Given the description of an element on the screen output the (x, y) to click on. 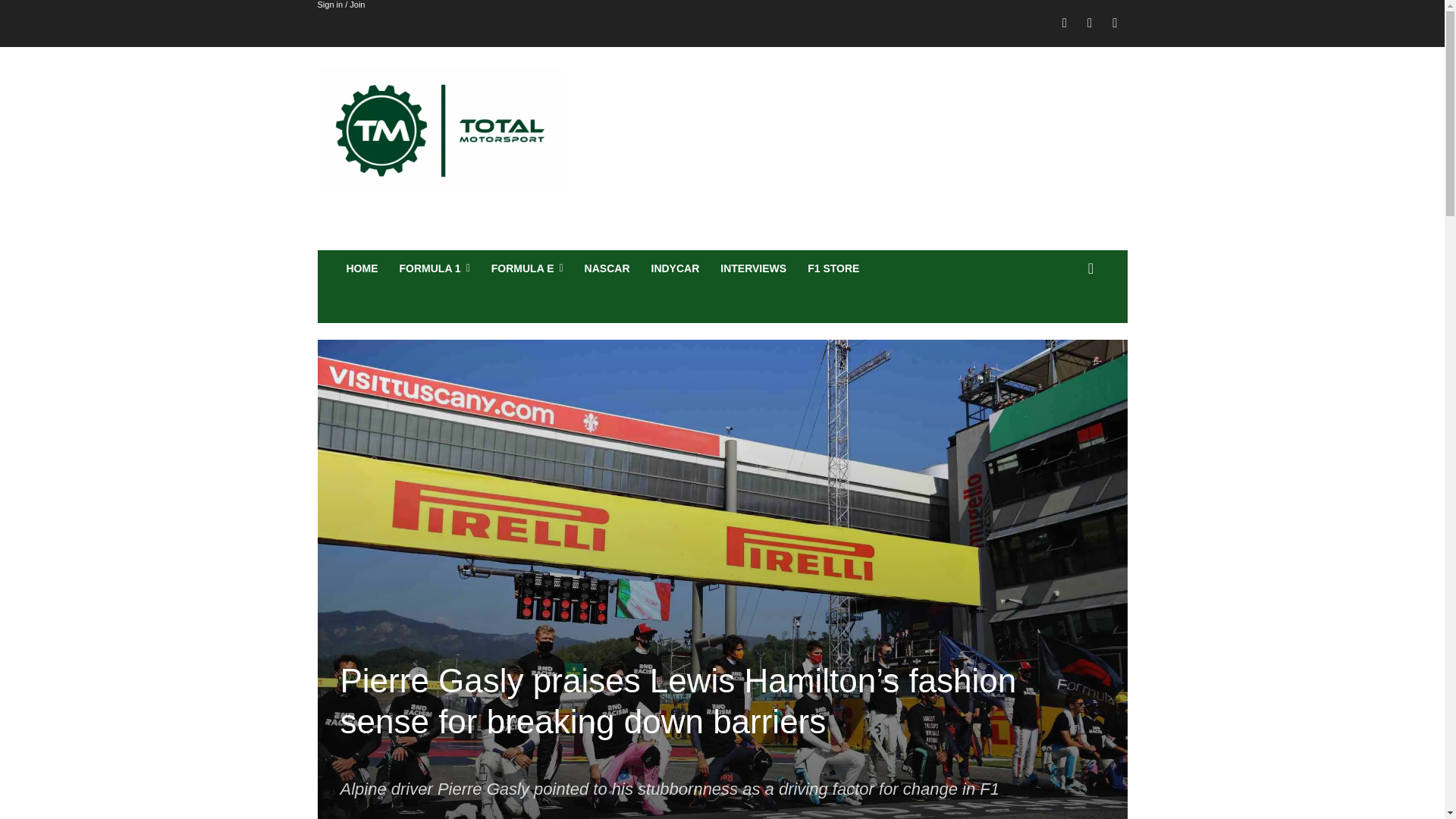
Twitter (1114, 23)
FORMULA E (526, 268)
INTERVIEWS (753, 268)
HOME (361, 268)
INDYCAR (675, 268)
NASCAR (606, 268)
F1 STORE (832, 268)
FORMULA 1 (434, 268)
Instagram (1089, 23)
Facebook (1064, 23)
